Given the description of an element on the screen output the (x, y) to click on. 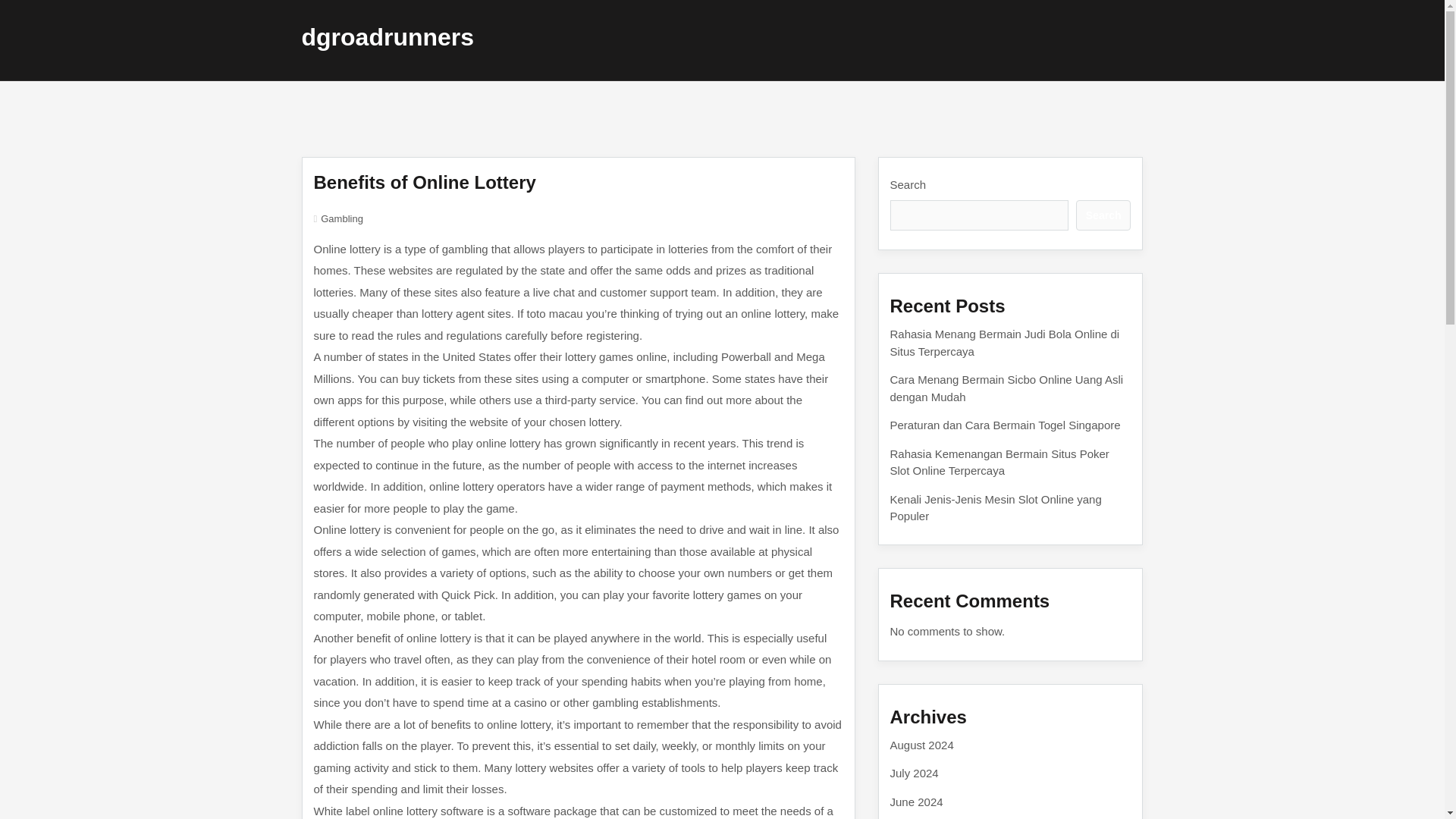
July 2024 (914, 772)
Kenali Jenis-Jenis Mesin Slot Online yang Populer (995, 508)
Peraturan dan Cara Bermain Togel Singapore (1005, 424)
toto macau (553, 313)
June 2024 (916, 800)
Gambling (341, 218)
Cara Menang Bermain Sicbo Online Uang Asli dengan Mudah (1006, 388)
dgroadrunners (387, 36)
Rahasia Menang Bermain Judi Bola Online di Situs Terpercaya (1004, 342)
